Given the description of an element on the screen output the (x, y) to click on. 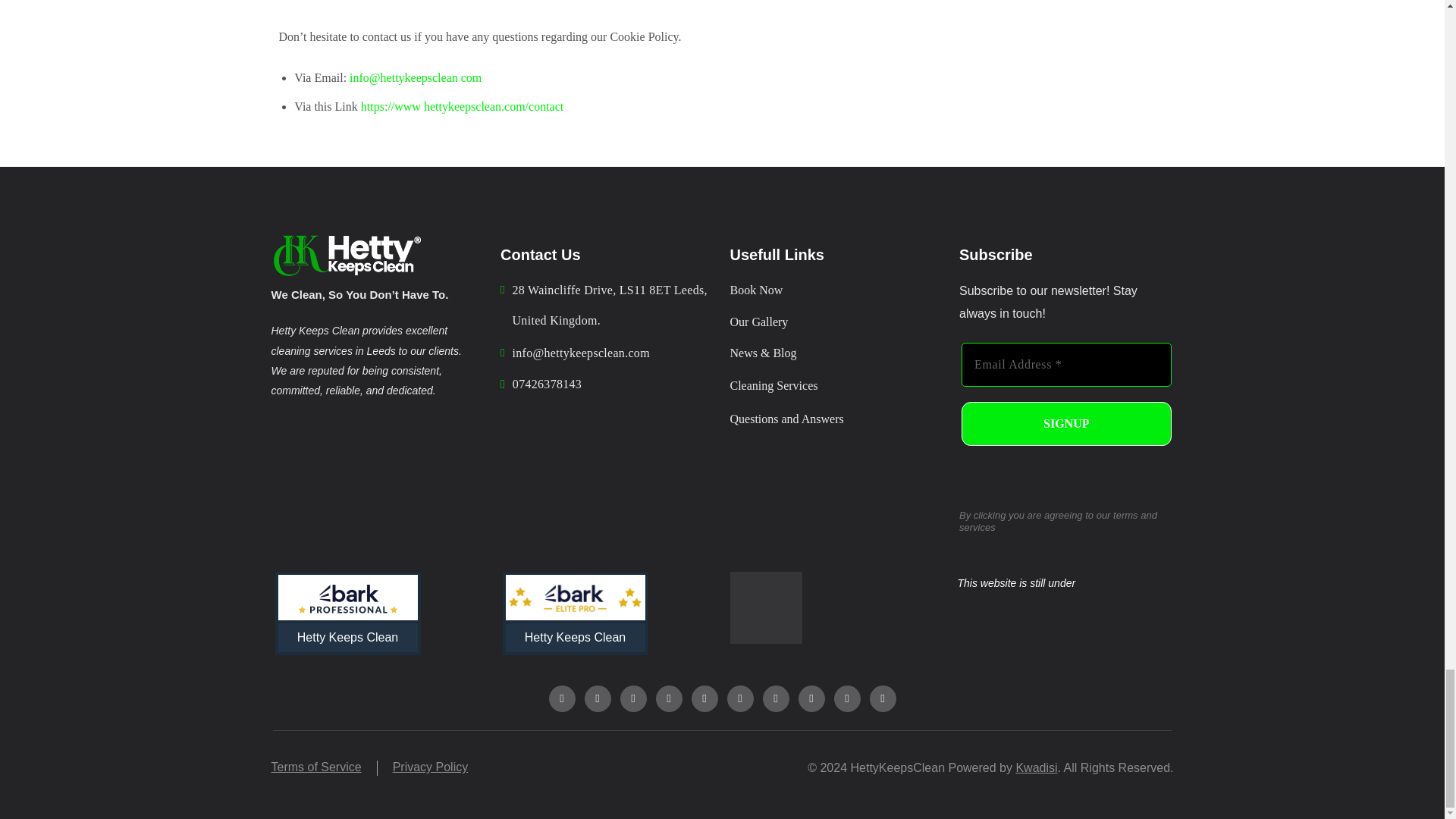
Email Address (1066, 364)
Instagram (596, 698)
Youtube (668, 698)
Twitter (633, 698)
SIGNUP (1066, 423)
Snapchat (775, 698)
LinkedIn (847, 698)
Facebook (561, 698)
Pinterest (704, 698)
Tumblr (739, 698)
